Given the description of an element on the screen output the (x, y) to click on. 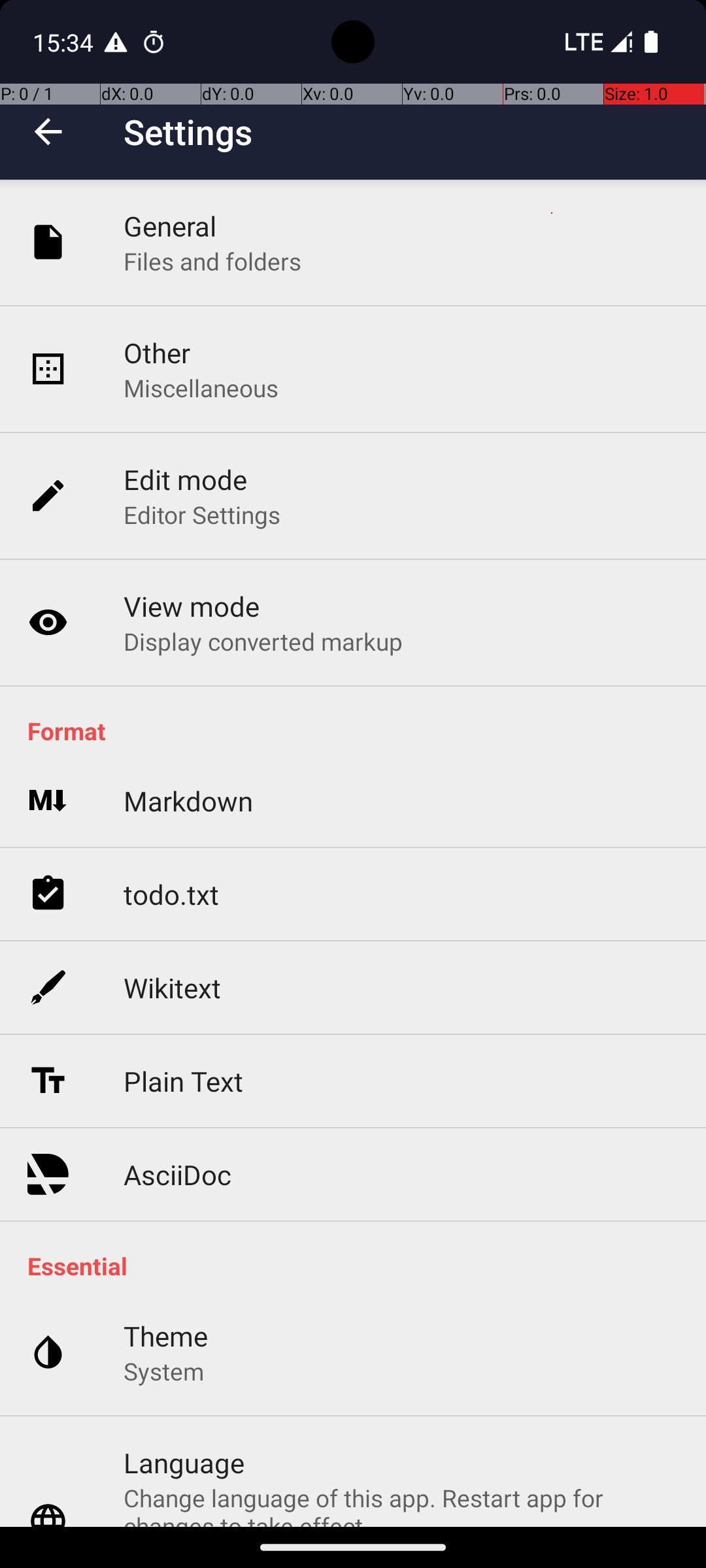
Format Element type: android.widget.TextView (359, 730)
Essential Element type: android.widget.TextView (359, 1265)
General Element type: android.widget.TextView (170, 225)
Files and folders Element type: android.widget.TextView (212, 260)
Other Element type: android.widget.TextView (156, 352)
Miscellaneous Element type: android.widget.TextView (200, 387)
Edit mode Element type: android.widget.TextView (185, 478)
Editor Settings Element type: android.widget.TextView (202, 514)
Display converted markup Element type: android.widget.TextView (263, 640)
Markdown Element type: android.widget.TextView (187, 800)
todo.txt Element type: android.widget.TextView (170, 893)
Wikitext Element type: android.widget.TextView (171, 987)
Plain Text Element type: android.widget.TextView (183, 1080)
AsciiDoc Element type: android.widget.TextView (177, 1173)
Theme Element type: android.widget.TextView (165, 1335)
System Element type: android.widget.TextView (163, 1370)
Language Element type: android.widget.TextView (183, 1462)
Change language of this app. Restart app for changes to take effect

English (English, United States) Element type: android.widget.TextView (400, 1503)
